Given the description of an element on the screen output the (x, y) to click on. 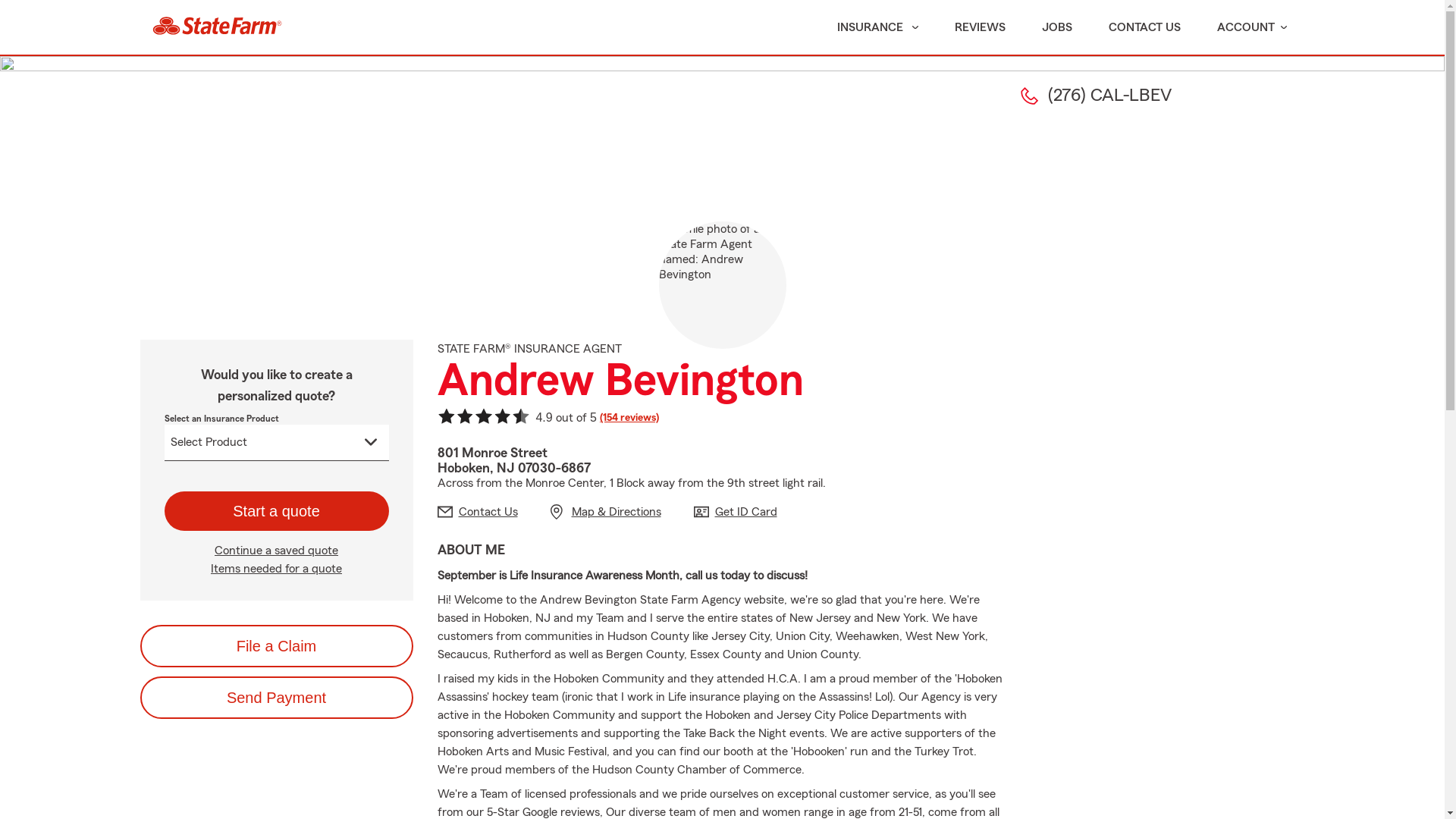
Send Payment Element type: text (275, 697)
JOBS Element type: text (1056, 27)
ACCOUNT Element type: text (1251, 27)
4.9 out of 5
average rating
(154 reviews) Element type: text (547, 418)
CONTACT US Element type: text (1144, 27)
Start a quote Element type: text (275, 510)
Items needed for a quote Element type: text (275, 568)
Contact Us Element type: text (476, 511)
Map & Directions Element type: text (605, 511)
(276) CAL-LBEV Element type: text (1095, 95)
Get ID Card Element type: text (734, 511)
INSURANCE Element type: text (868, 27)
REVIEWS Element type: text (978, 27)
Continue a saved quote Element type: text (275, 550)
File a Claim Element type: text (275, 645)
